Given the description of an element on the screen output the (x, y) to click on. 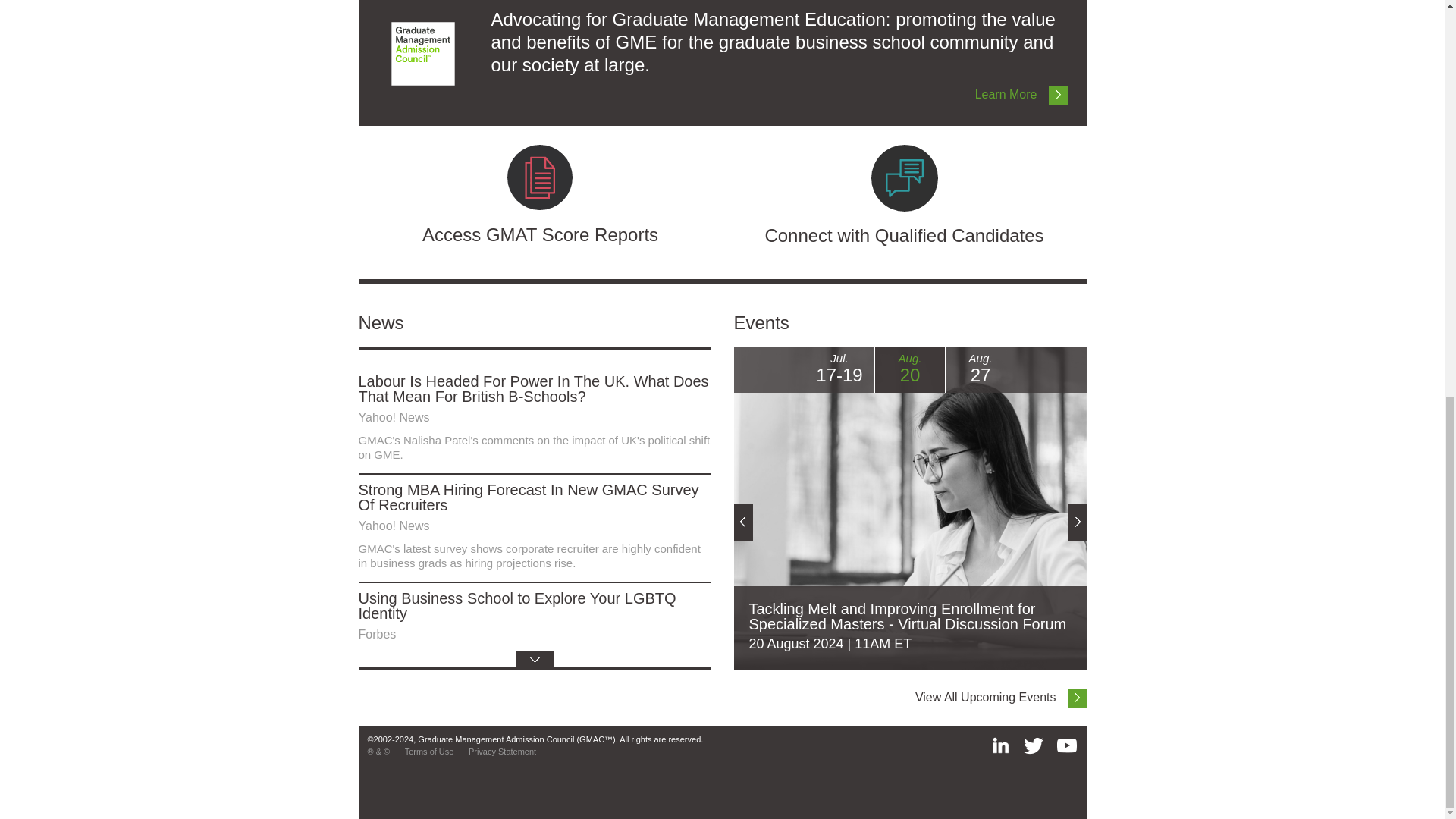
LinkedIn (1001, 745)
YouTube (1067, 745)
Twitter (1033, 745)
